Given the description of an element on the screen output the (x, y) to click on. 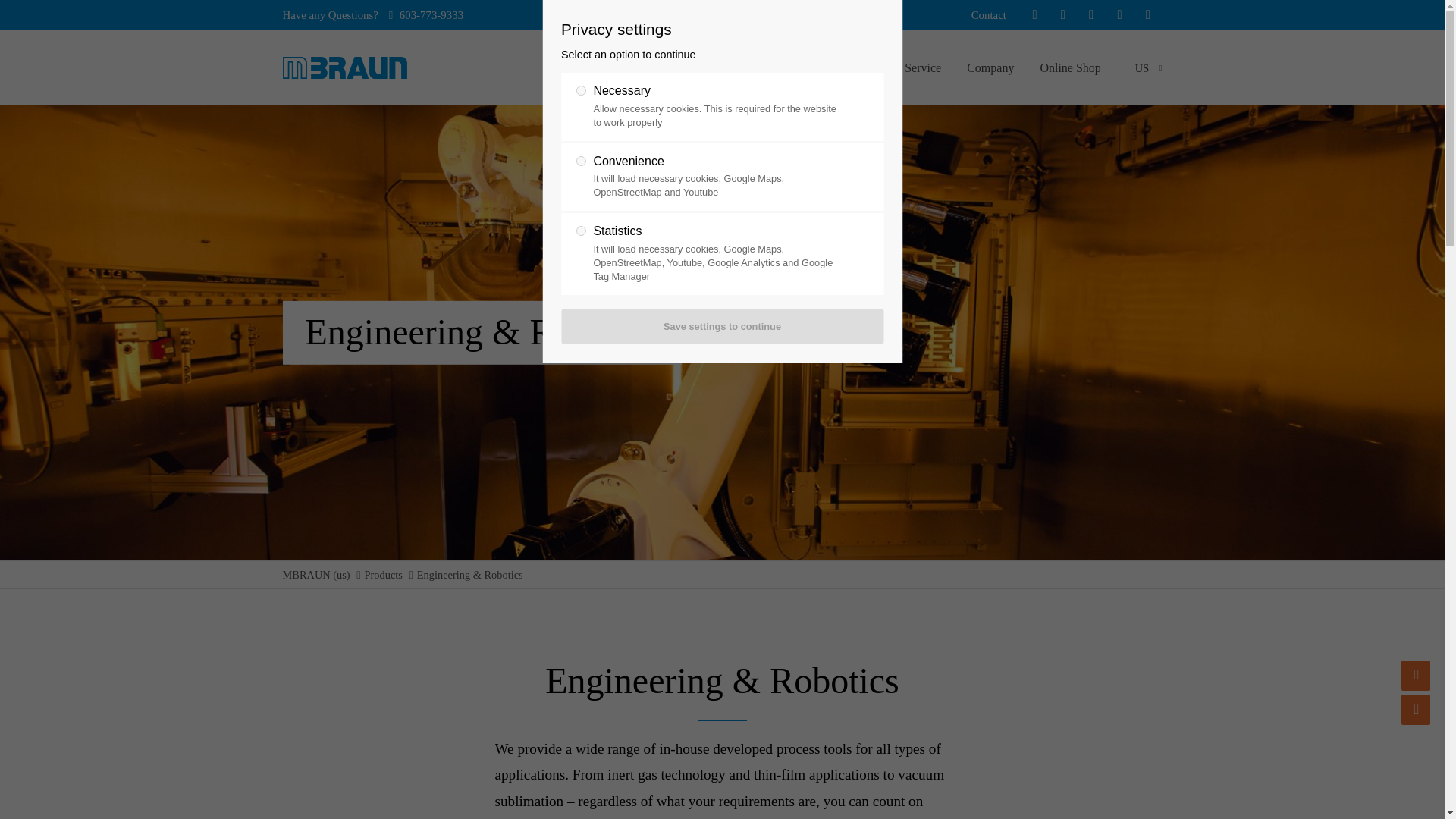
1 (580, 90)
Save settings to continue (721, 325)
3 (580, 230)
2 (580, 161)
